Given the description of an element on the screen output the (x, y) to click on. 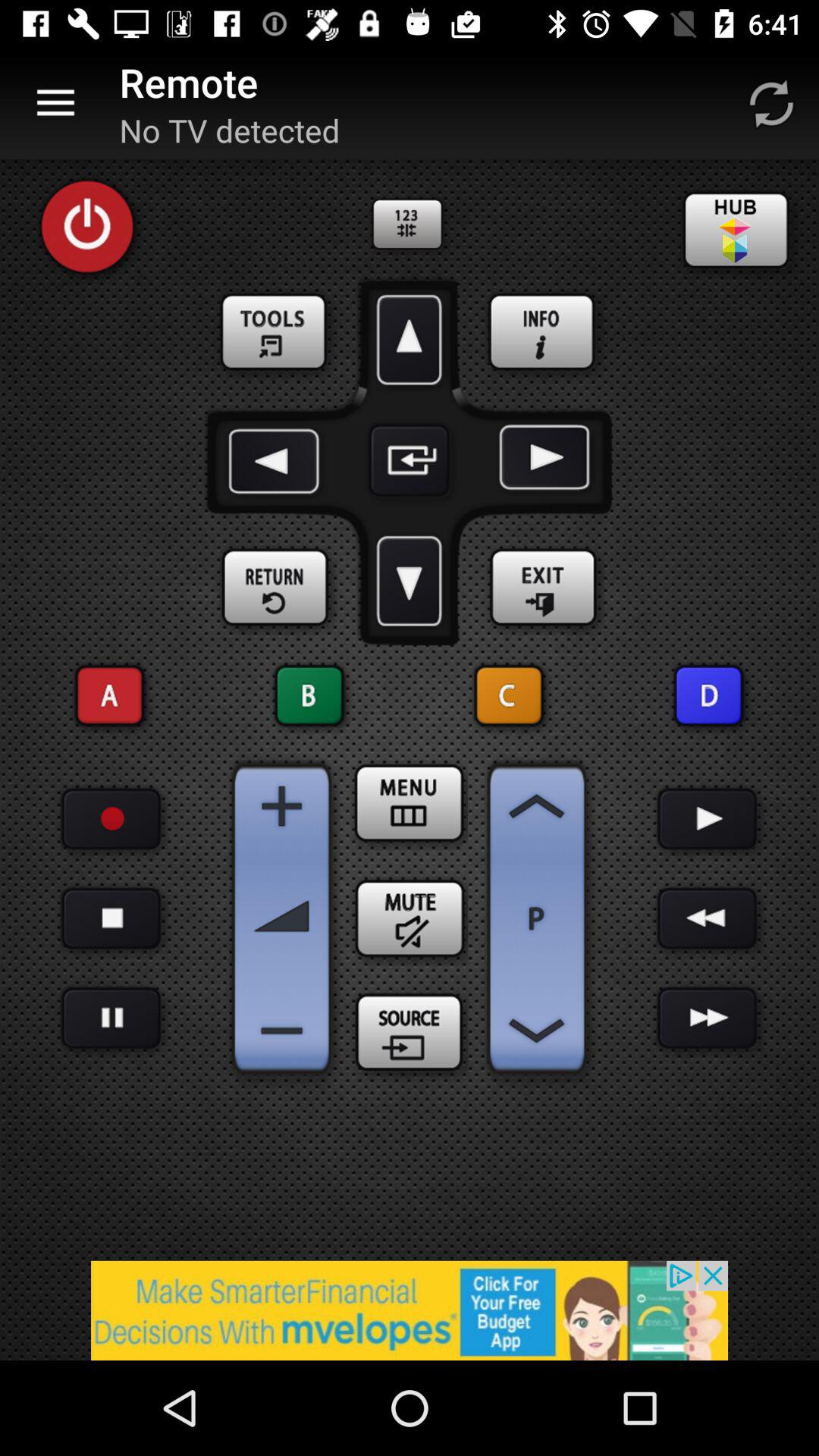
scroll down (409, 581)
